Given the description of an element on the screen output the (x, y) to click on. 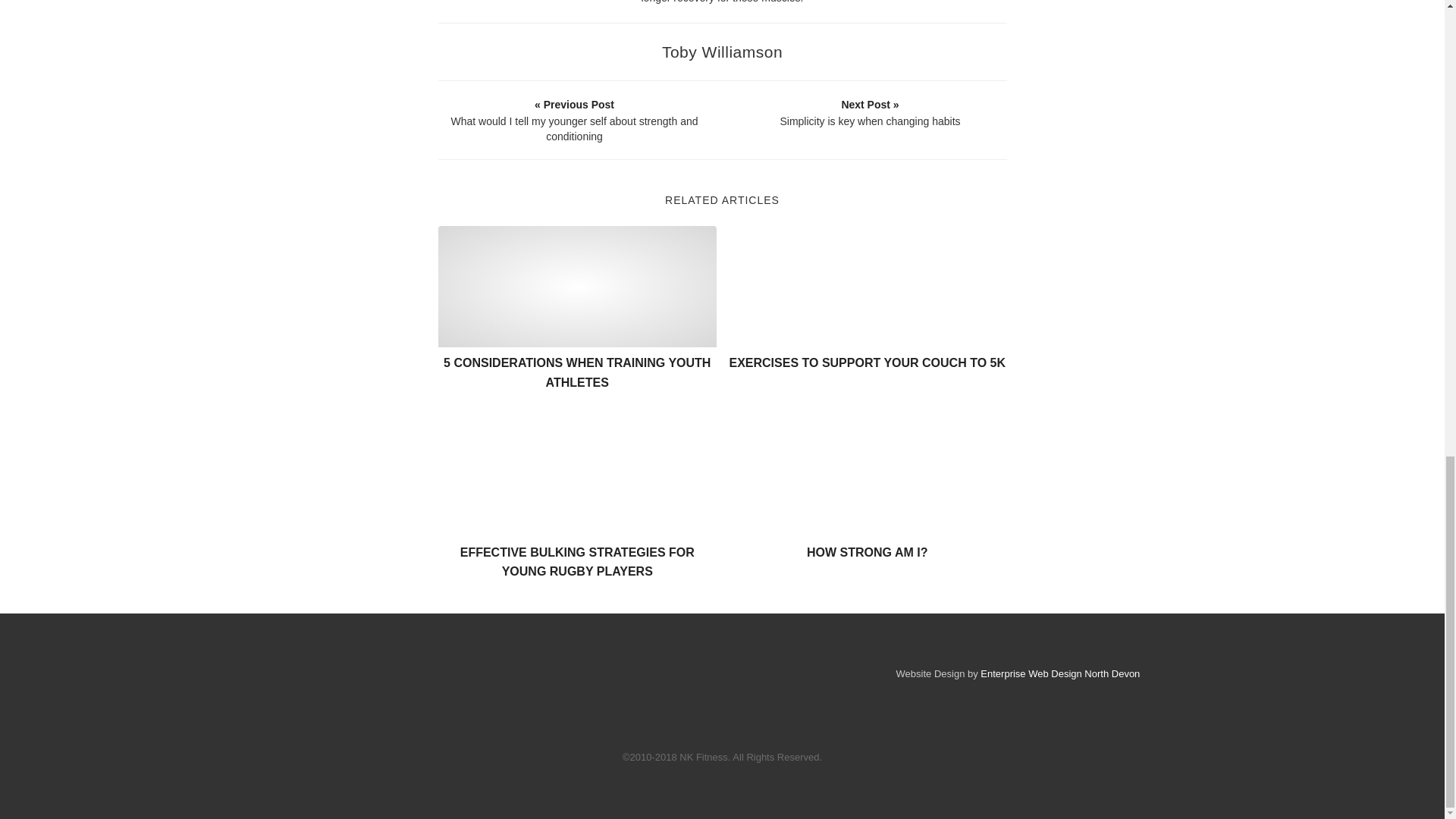
How strong am I? (867, 476)
Enterprise Web Design North Devon (1059, 673)
EXERCISES TO SUPPORT YOUR COUCH TO 5K (867, 362)
HOW STRONG AM I? (866, 552)
Exercises to support your couch to 5k (867, 286)
Simplicity is key when changing habits (869, 112)
EFFECTIVE BULKING STRATEGIES FOR YOUNG RUGBY PLAYERS (577, 562)
5 CONSIDERATIONS WHEN TRAINING YOUTH ATHLETES (577, 372)
Toby Williamson (722, 51)
